Given the description of an element on the screen output the (x, y) to click on. 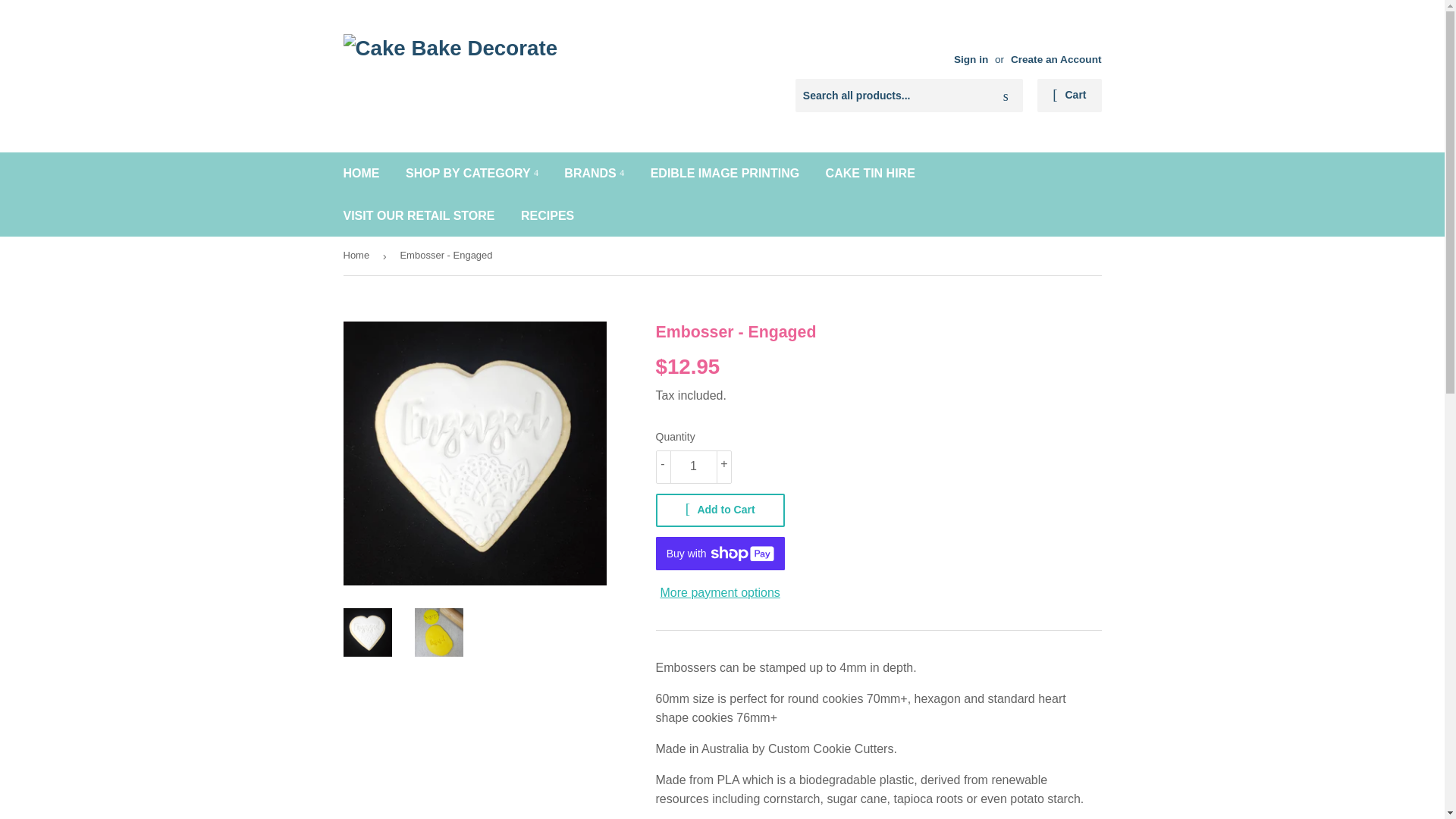
Create an Account (1056, 59)
Sign in (970, 59)
Cart (1068, 95)
Search (1005, 96)
1 (692, 467)
